Given the description of an element on the screen output the (x, y) to click on. 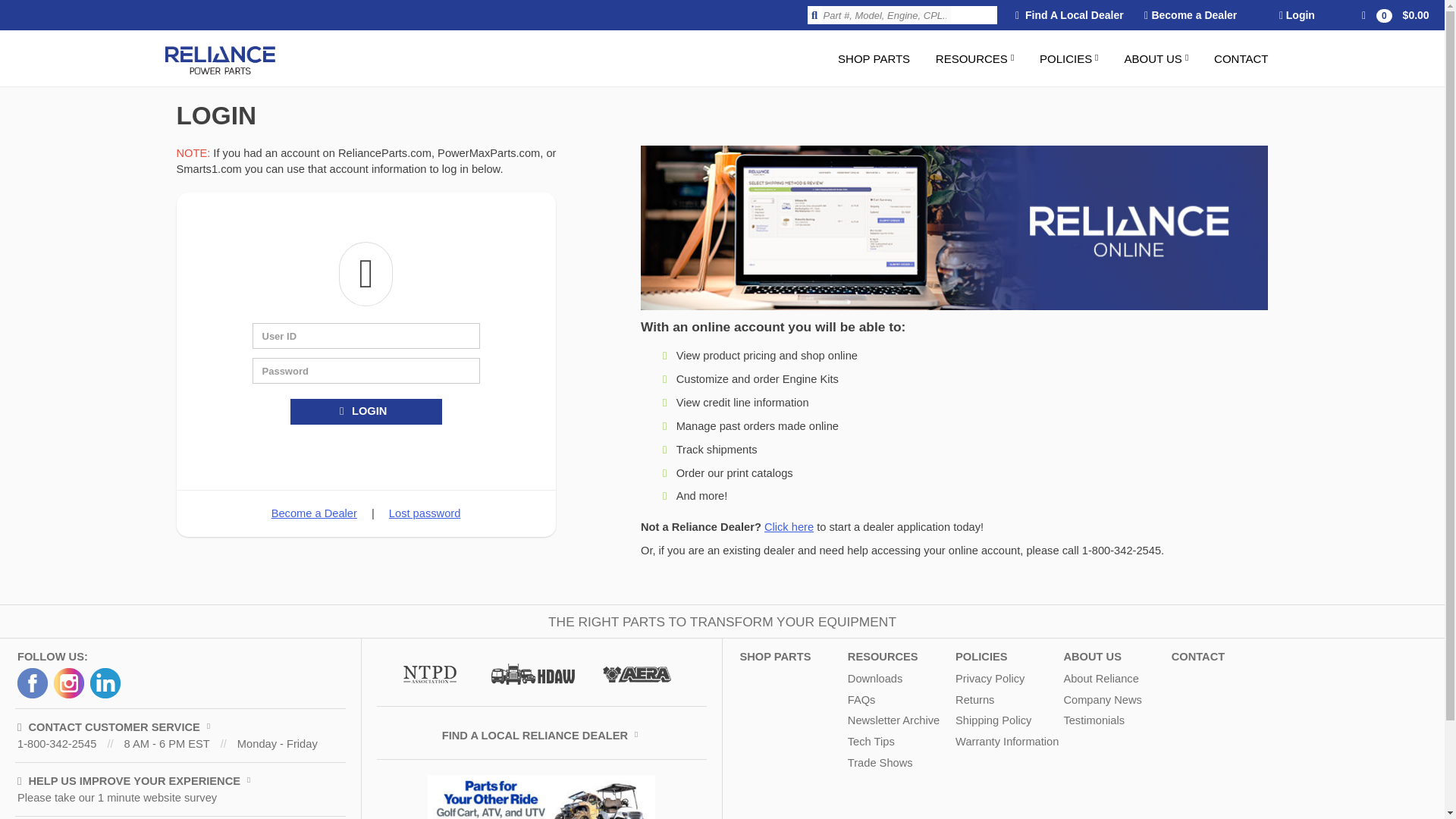
  Find A Local Dealer (1069, 15)
ABOUT US (1155, 58)
Login (1296, 15)
Follow Us On Facebook (32, 683)
RESOURCES (975, 58)
Opens a widget where you can find more information (1386, 792)
SHOP PARTS (874, 58)
POLICIES (1068, 58)
Become a Dealer (1190, 15)
CONTACT (1240, 58)
Follow Us On Instagram (68, 683)
Follow Us On LinkedIn (105, 683)
